Given the description of an element on the screen output the (x, y) to click on. 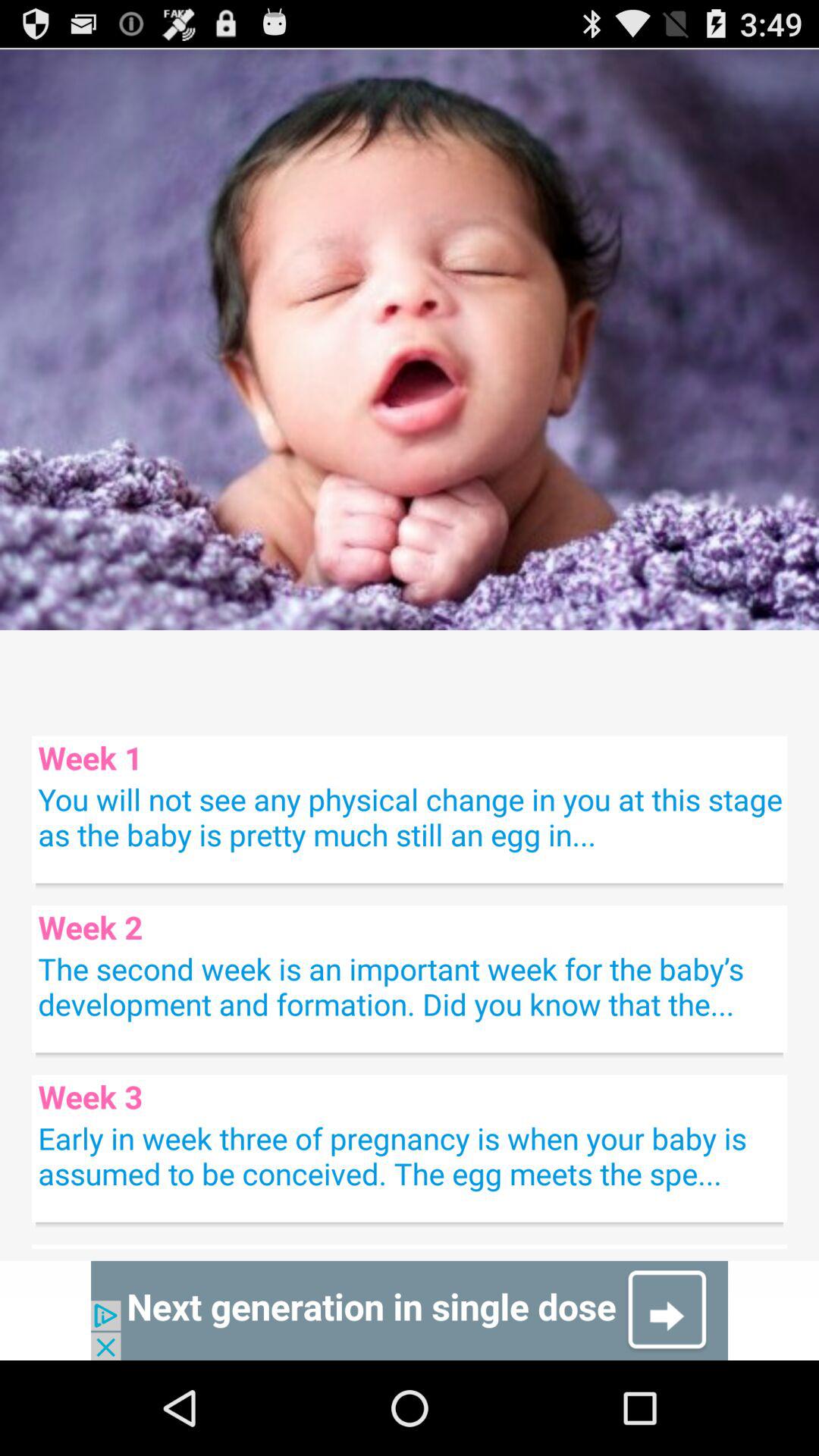
advertisement link (409, 1310)
